Given the description of an element on the screen output the (x, y) to click on. 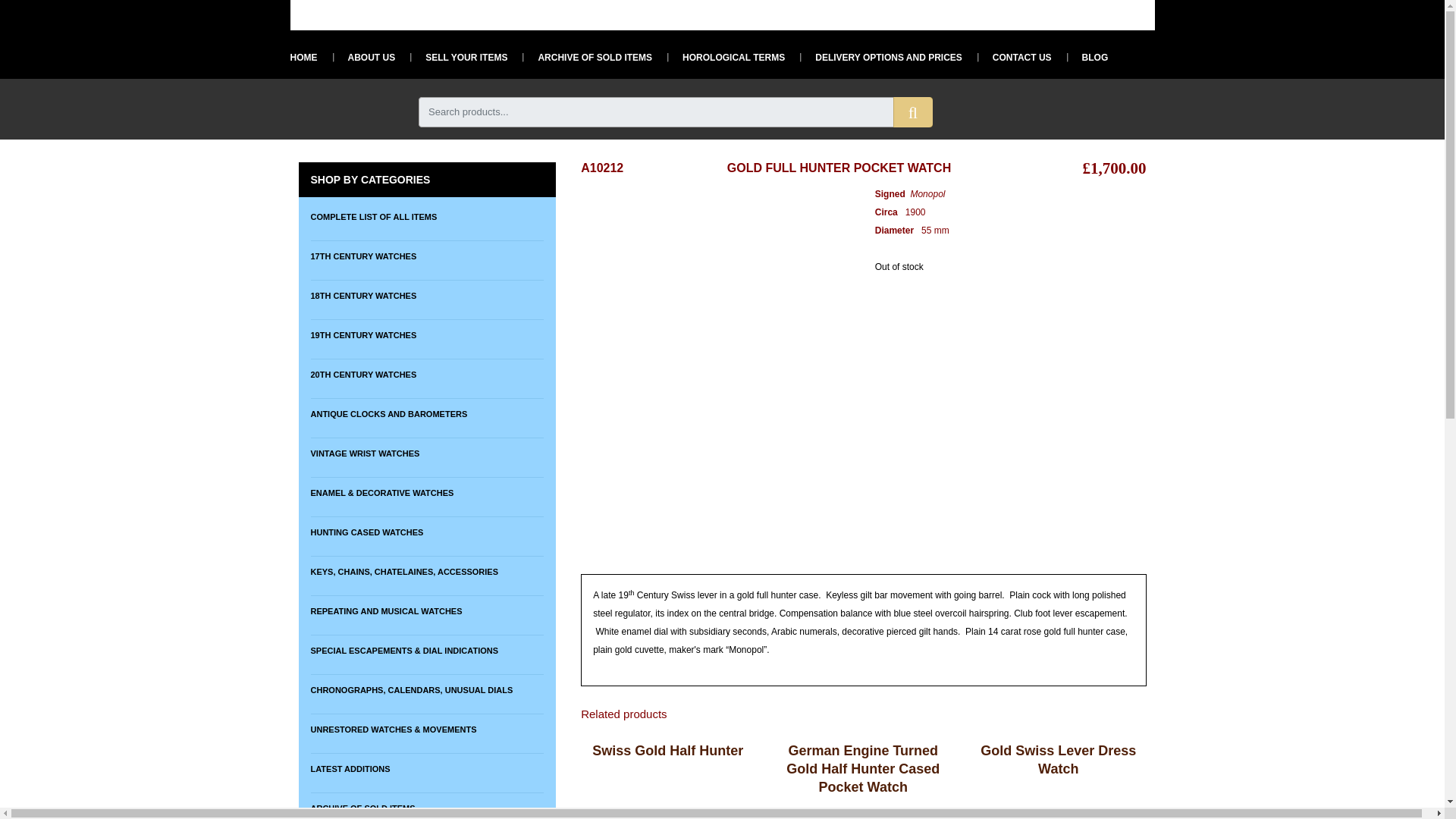
CONTACT US (1013, 57)
HOME (303, 57)
19TH CENTURY WATCHES (427, 334)
VINTAGE WRIST WATCHES (427, 452)
DELIVERY OPTIONS AND PRICES (880, 57)
HOROLOGICAL TERMS (725, 57)
17TH CENTURY WATCHES (427, 255)
20TH CENTURY WATCHES (427, 373)
BLOG (1087, 57)
SELL YOUR ITEMS (458, 57)
